Given the description of an element on the screen output the (x, y) to click on. 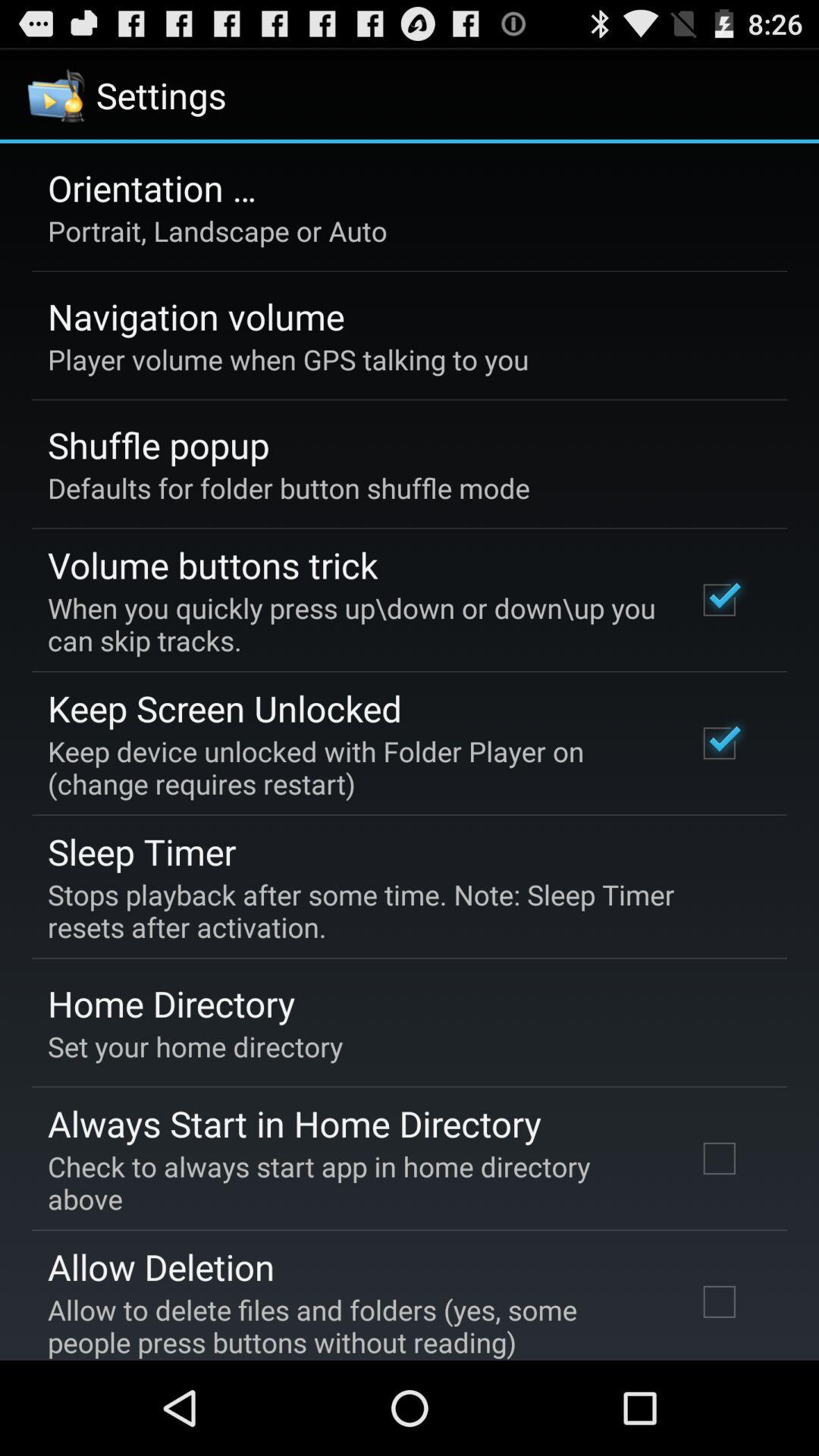
press defaults for folder icon (288, 487)
